Given the description of an element on the screen output the (x, y) to click on. 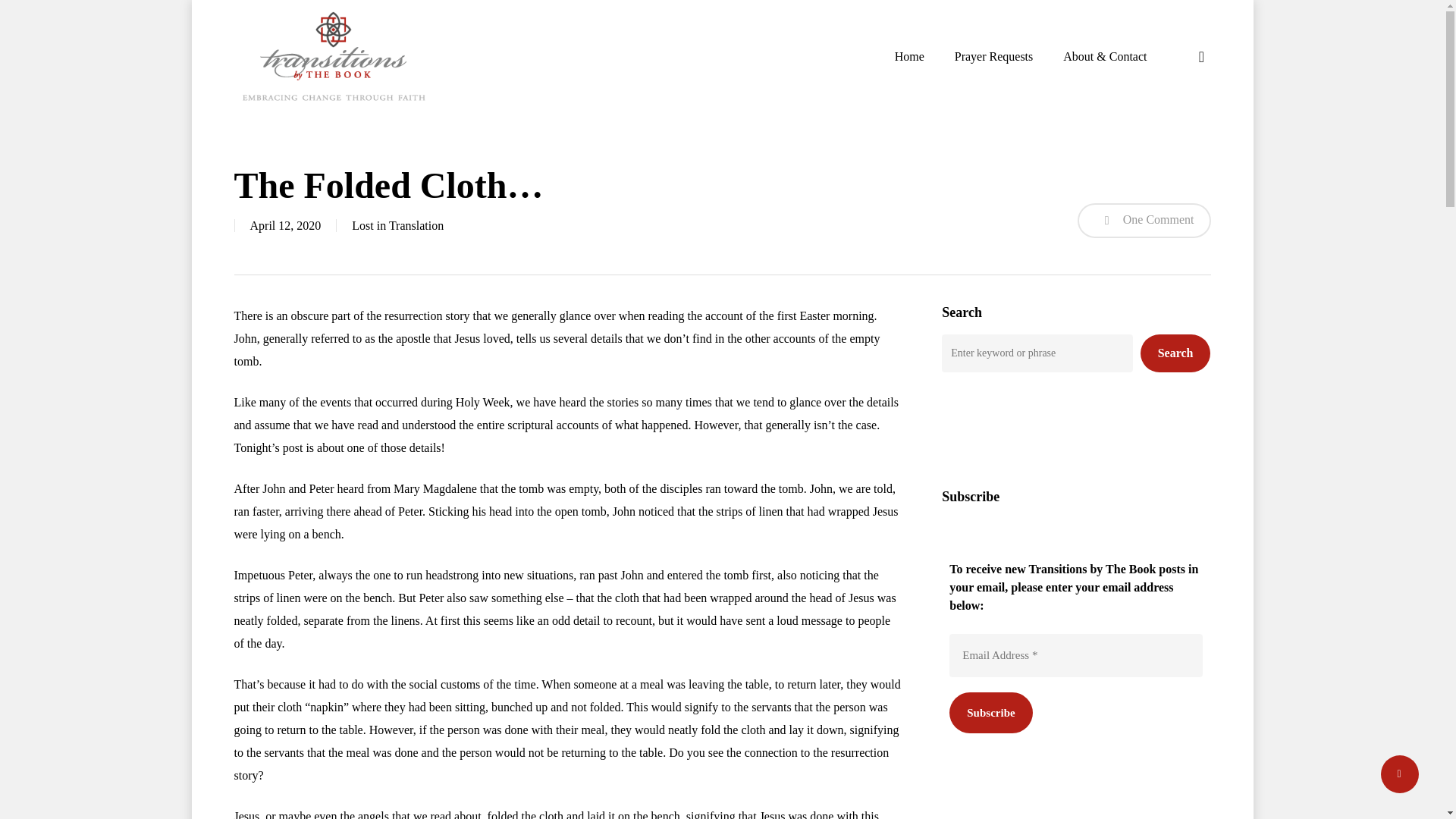
Search (1175, 353)
search (1200, 56)
Subscribe (990, 712)
Subscribe (990, 712)
One Comment (1144, 220)
Email Address (1075, 655)
Lost in Translation (398, 225)
Prayer Requests (994, 56)
Home (909, 56)
